Given the description of an element on the screen output the (x, y) to click on. 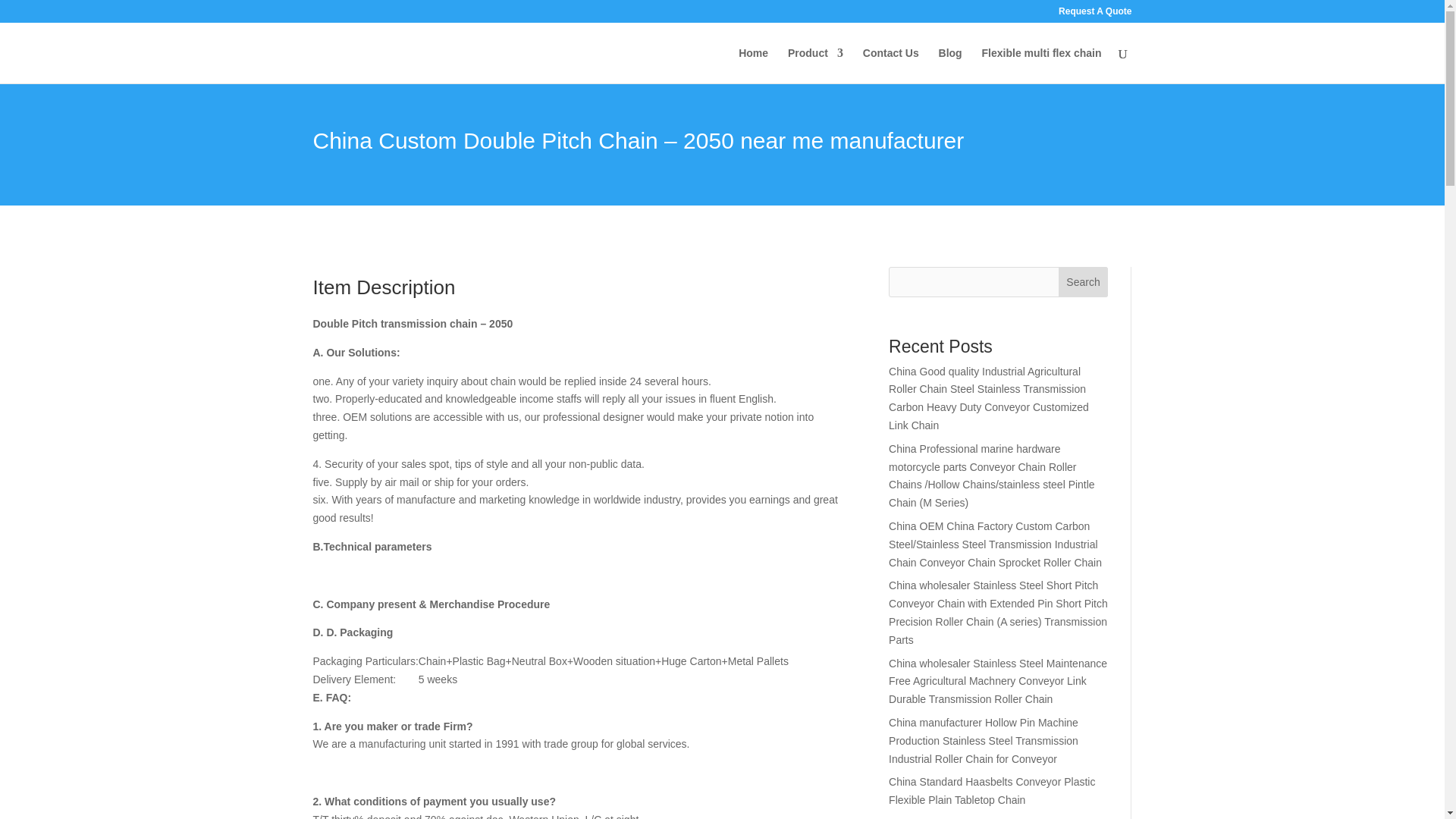
Contact Us (890, 65)
Request A Quote (1094, 14)
Search (1083, 281)
Flexible multi flex chain (1041, 65)
Product (815, 65)
